Given the description of an element on the screen output the (x, y) to click on. 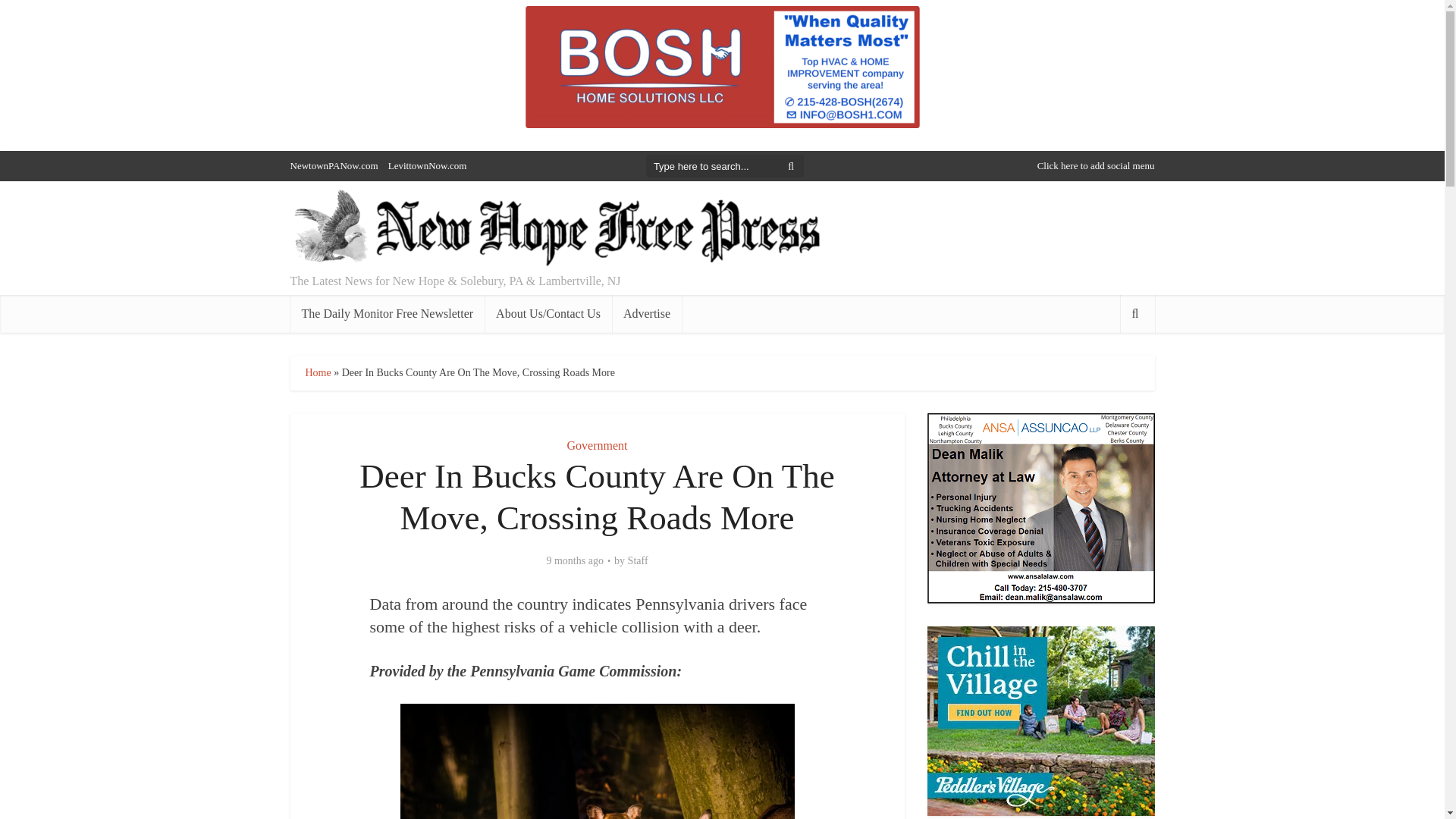
Type here to search... (724, 165)
Advertise (646, 313)
Type here to search... (724, 165)
NewtownPANow.com (333, 165)
New Hope Free Press (555, 228)
Government (597, 445)
The Daily Monitor Free Newsletter (386, 313)
Home (317, 372)
Staff (637, 561)
Click here to add social menu (1095, 165)
LevittownNow.com (427, 165)
